Given the description of an element on the screen output the (x, y) to click on. 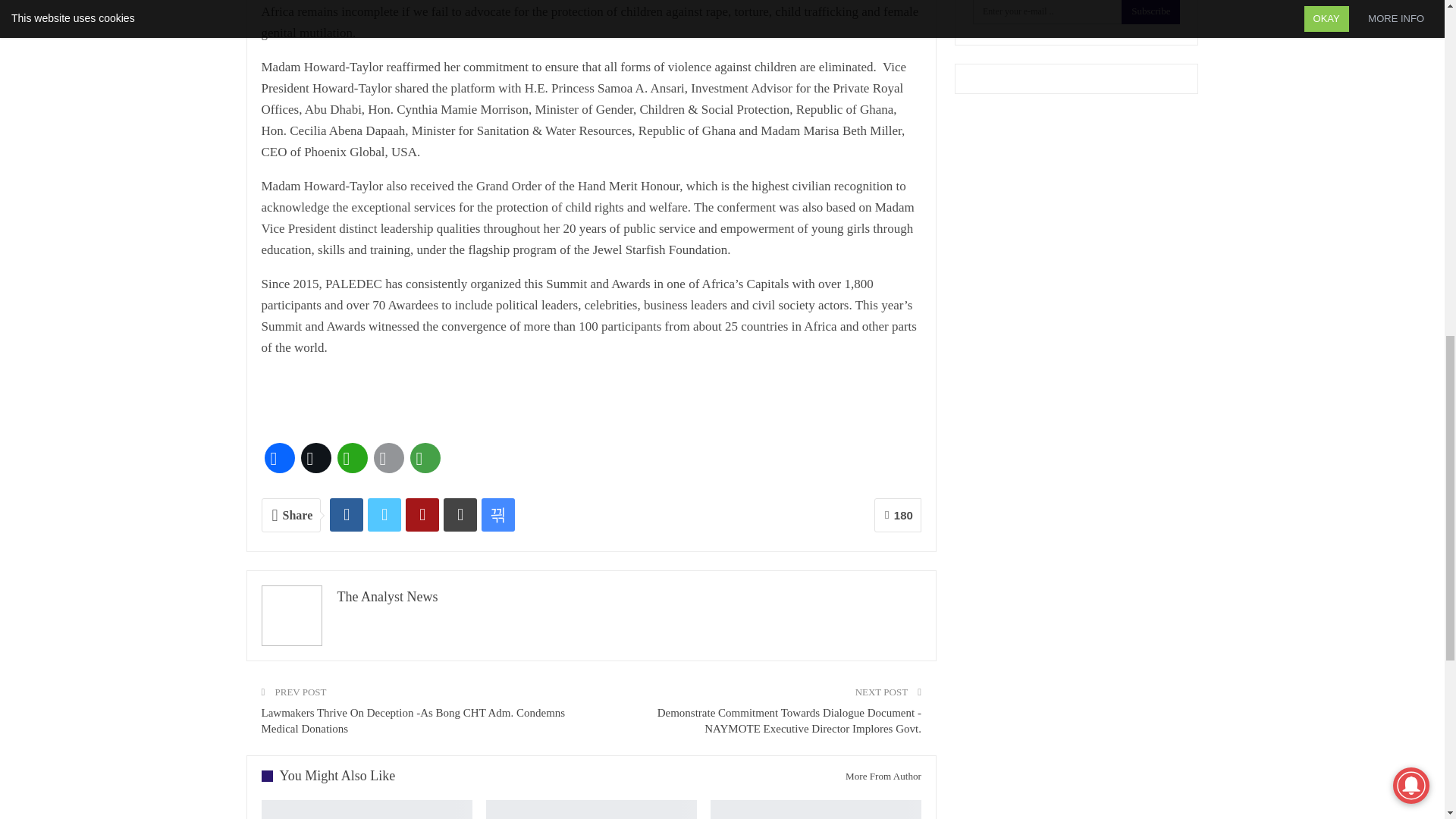
WhatsApp (351, 457)
More Options (424, 457)
Email This (387, 457)
Facebook (278, 457)
